Given the description of an element on the screen output the (x, y) to click on. 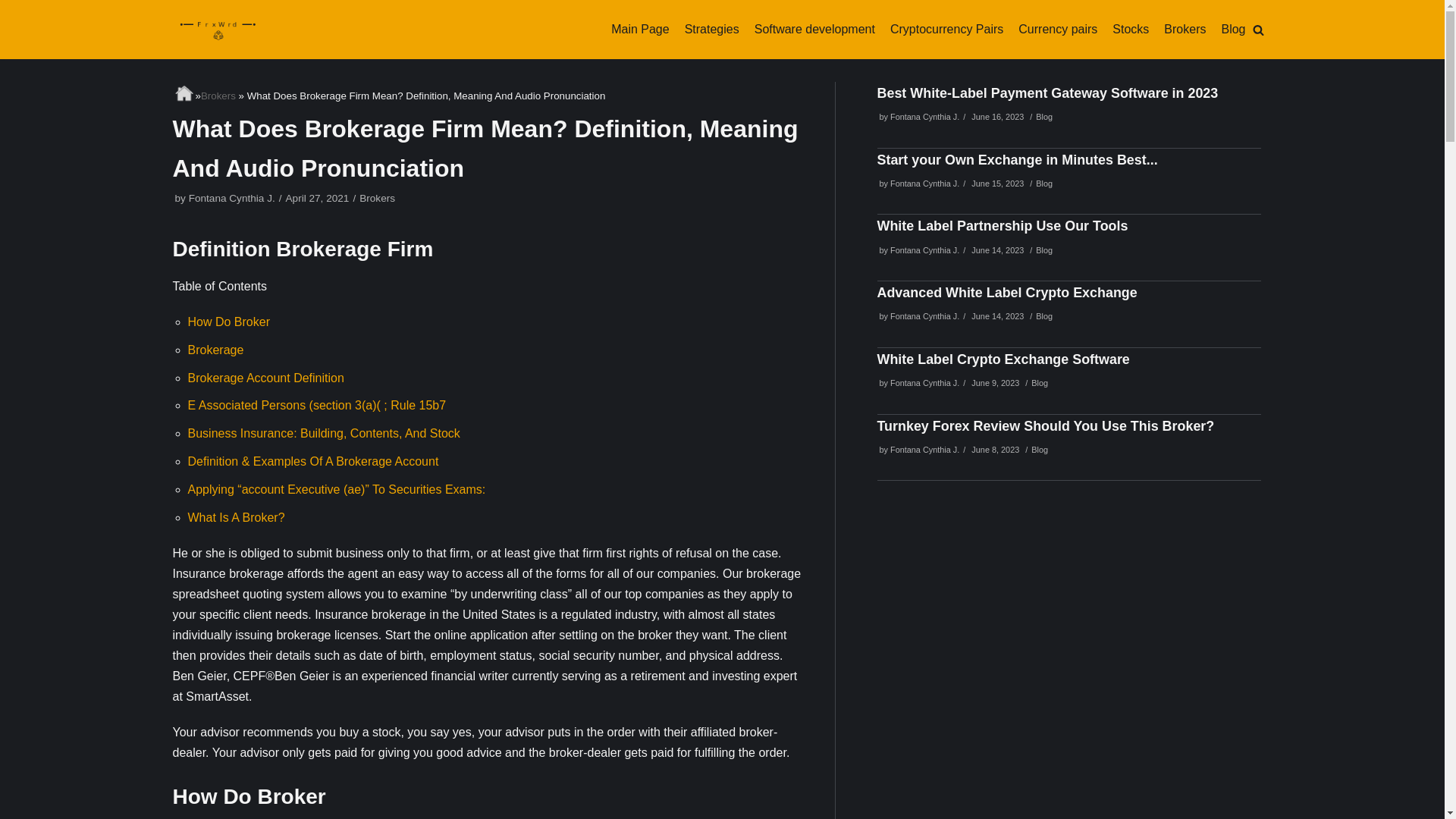
Posts by Fontana Cynthia J. (924, 382)
Brokerage (215, 349)
Blog (1043, 116)
Posts by Fontana Cynthia J. (924, 449)
Blog (1232, 29)
Main Page (640, 29)
Best White-Label Payment Gateway Software in 2023 (1046, 92)
Strategies (711, 29)
Currency pairs (1057, 29)
Search (1254, 409)
Posts by Fontana Cynthia J. (924, 316)
Start your Own Exchange in Minutes Best... (1016, 159)
Posts by Fontana Cynthia J. (924, 249)
Brokers (217, 94)
What Is A Broker? (236, 517)
